Given the description of an element on the screen output the (x, y) to click on. 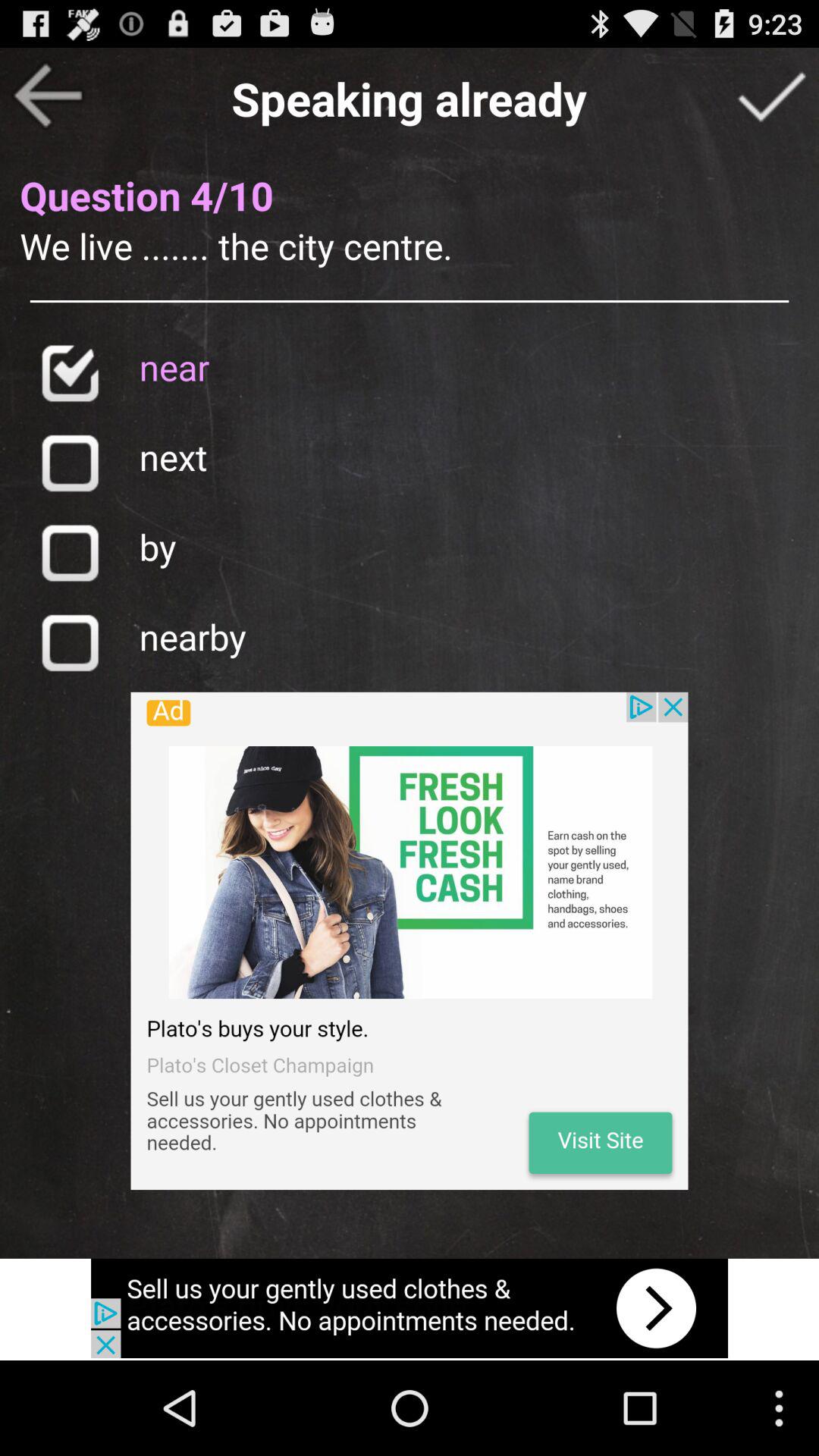
button (69, 642)
